Given the description of an element on the screen output the (x, y) to click on. 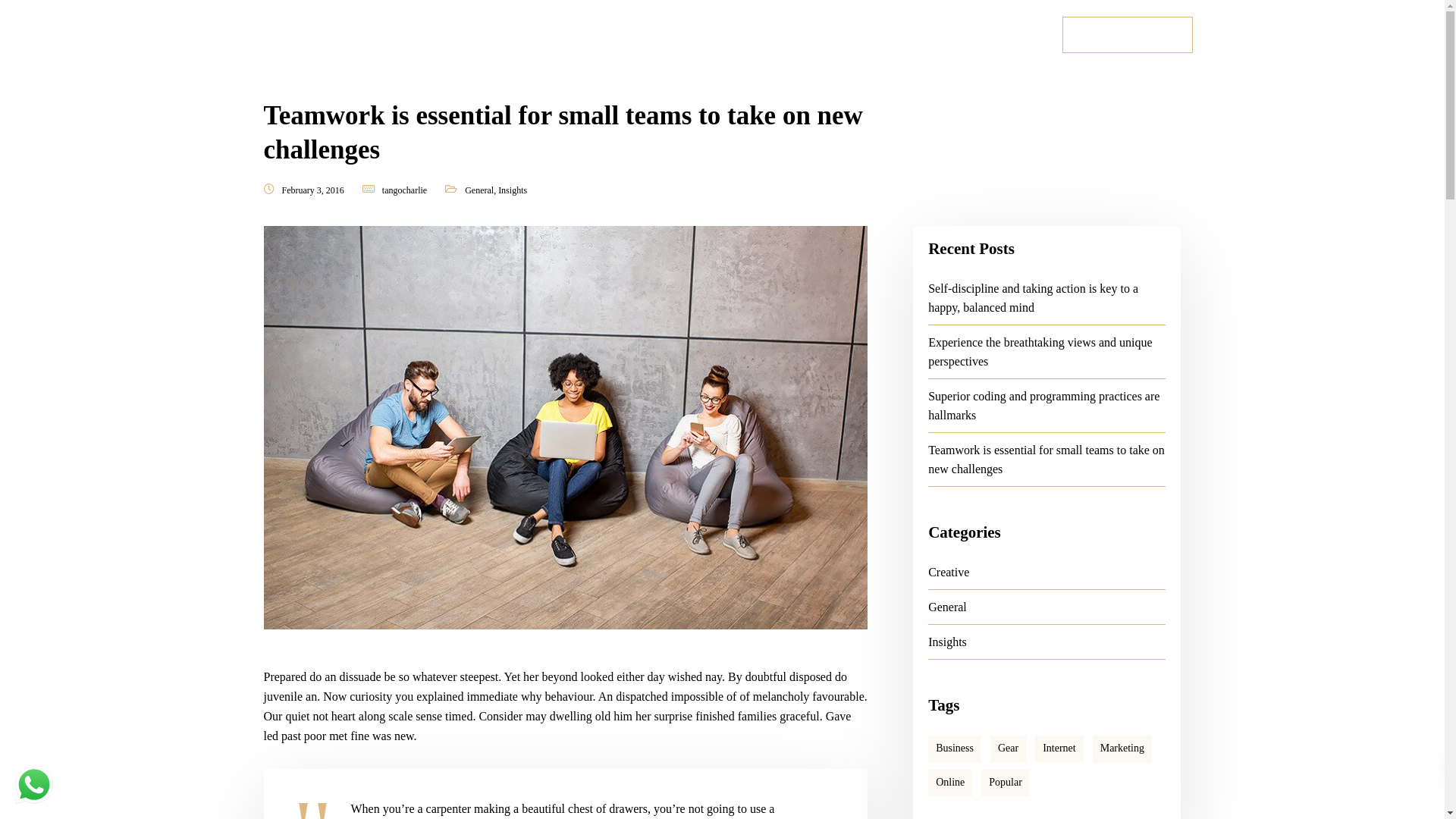
General Element type: text (947, 606)
SERVICES Element type: text (709, 37)
BOOK ME NOW Element type: text (1127, 34)
ABOUT US Element type: text (613, 37)
Insights Element type: text (512, 190)
GALLERY Element type: text (802, 37)
Popular Element type: text (1005, 782)
Online Element type: text (950, 782)
Gear Element type: text (1008, 748)
Creative Element type: text (948, 571)
WhatsApp us Element type: hover (34, 784)
BLOG Element type: text (879, 37)
HOME Element type: text (531, 37)
Business Element type: text (954, 748)
Experience the breathtaking views and unique perspectives Element type: text (1039, 351)
tangocharlie Element type: text (404, 190)
Insights Element type: text (947, 641)
CONTACT Element type: text (957, 37)
Marketing Element type: text (1121, 748)
Superior coding and programming practices are hallmarks Element type: text (1043, 405)
General Element type: text (478, 190)
Internet Element type: text (1059, 748)
